Given the description of an element on the screen output the (x, y) to click on. 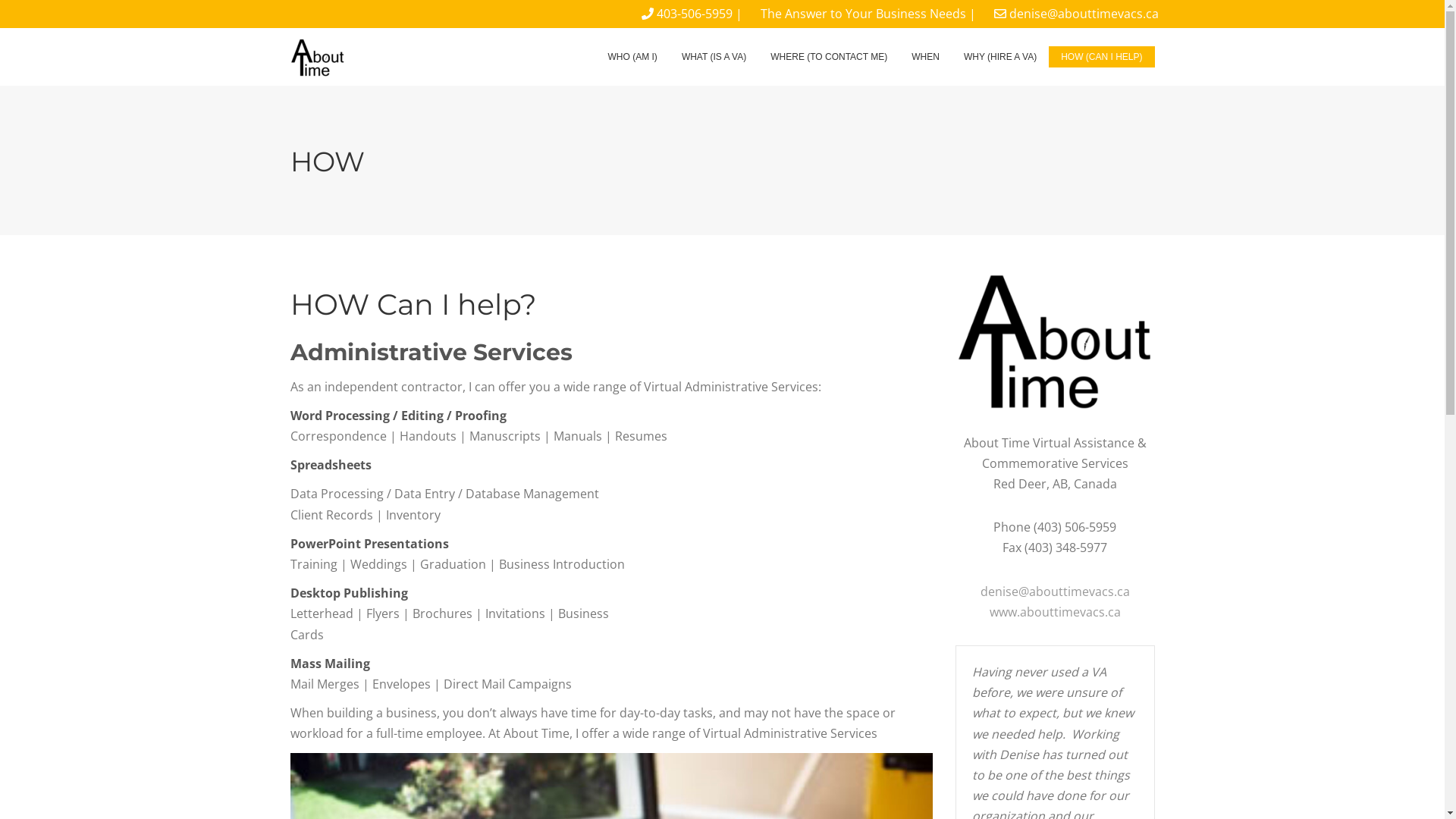
WHEN Element type: text (925, 56)
WHAT (IS A VA) Element type: text (713, 56)
WHY (HIRE A VA) Element type: text (999, 56)
denise@abouttimevacs.ca Element type: text (1054, 591)
403-506-5959 Element type: text (694, 13)
WHO (AM I) Element type: text (632, 56)
HOW (CAN I HELP) Element type: text (1101, 56)
www.abouttimevacs.ca Element type: text (1054, 611)
WHERE (TO CONTACT ME) Element type: text (828, 56)
denise@abouttimevacs.ca Element type: text (1082, 13)
